Given the description of an element on the screen output the (x, y) to click on. 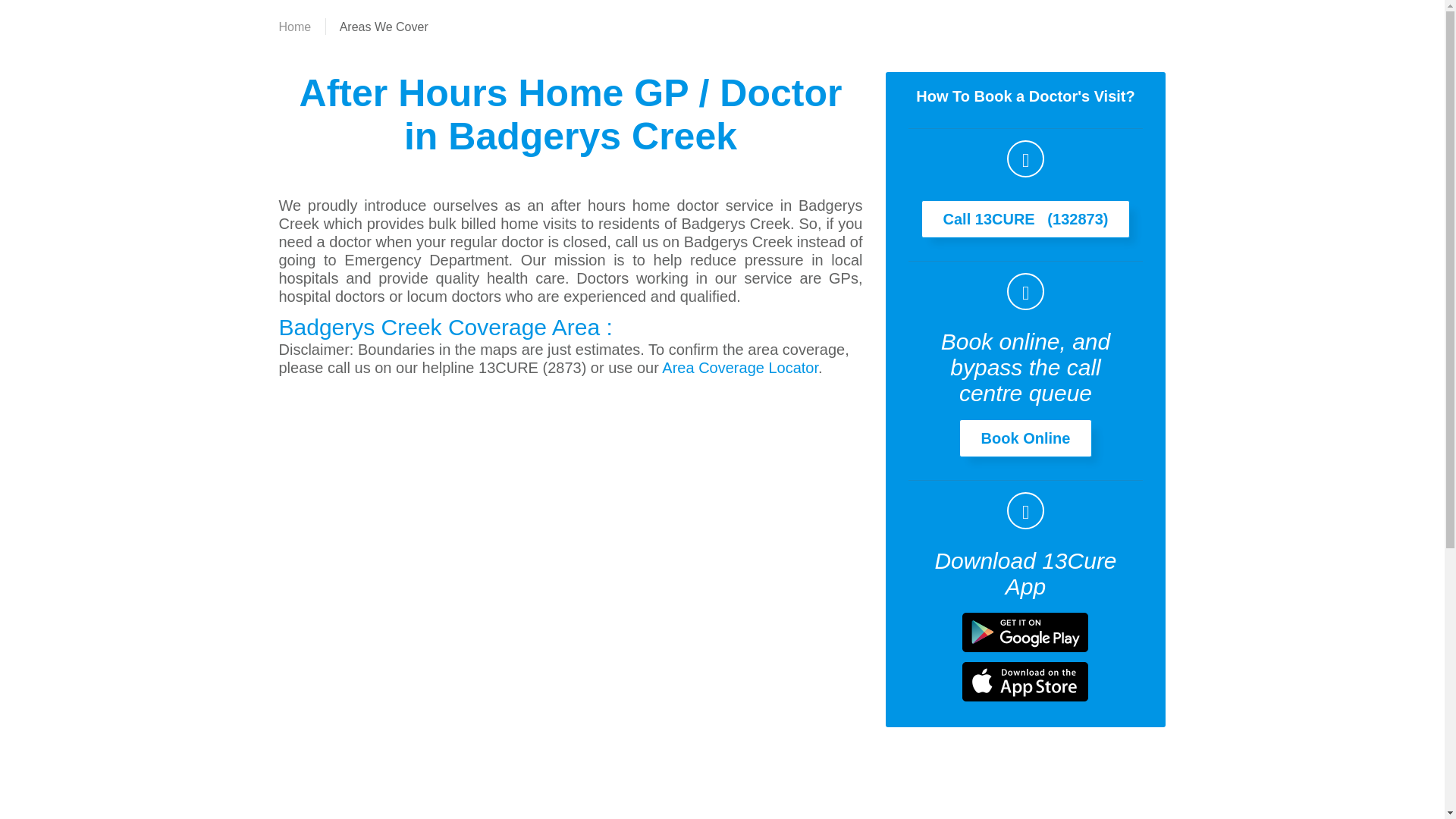
Book Online (1026, 438)
Area Coverage Locator (740, 367)
Home (295, 26)
